Given the description of an element on the screen output the (x, y) to click on. 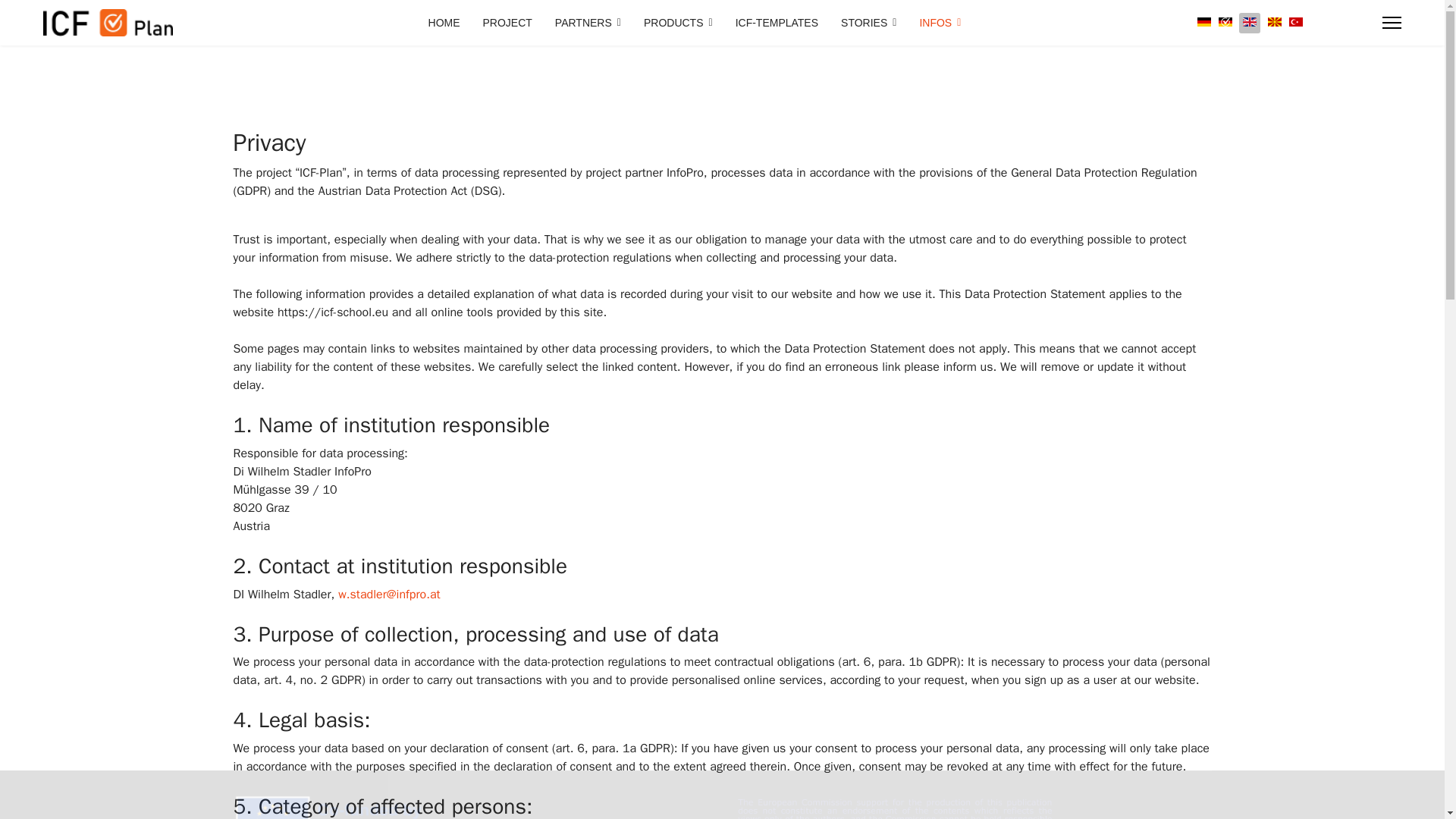
PRODUCTS (677, 22)
INFOS (933, 22)
PROJECT (507, 22)
Deutsch - Einfache Sprache (1224, 21)
ICF-TEMPLATES (776, 22)
HOME (443, 22)
STORIES (868, 22)
PARTNERS (587, 22)
